Given the description of an element on the screen output the (x, y) to click on. 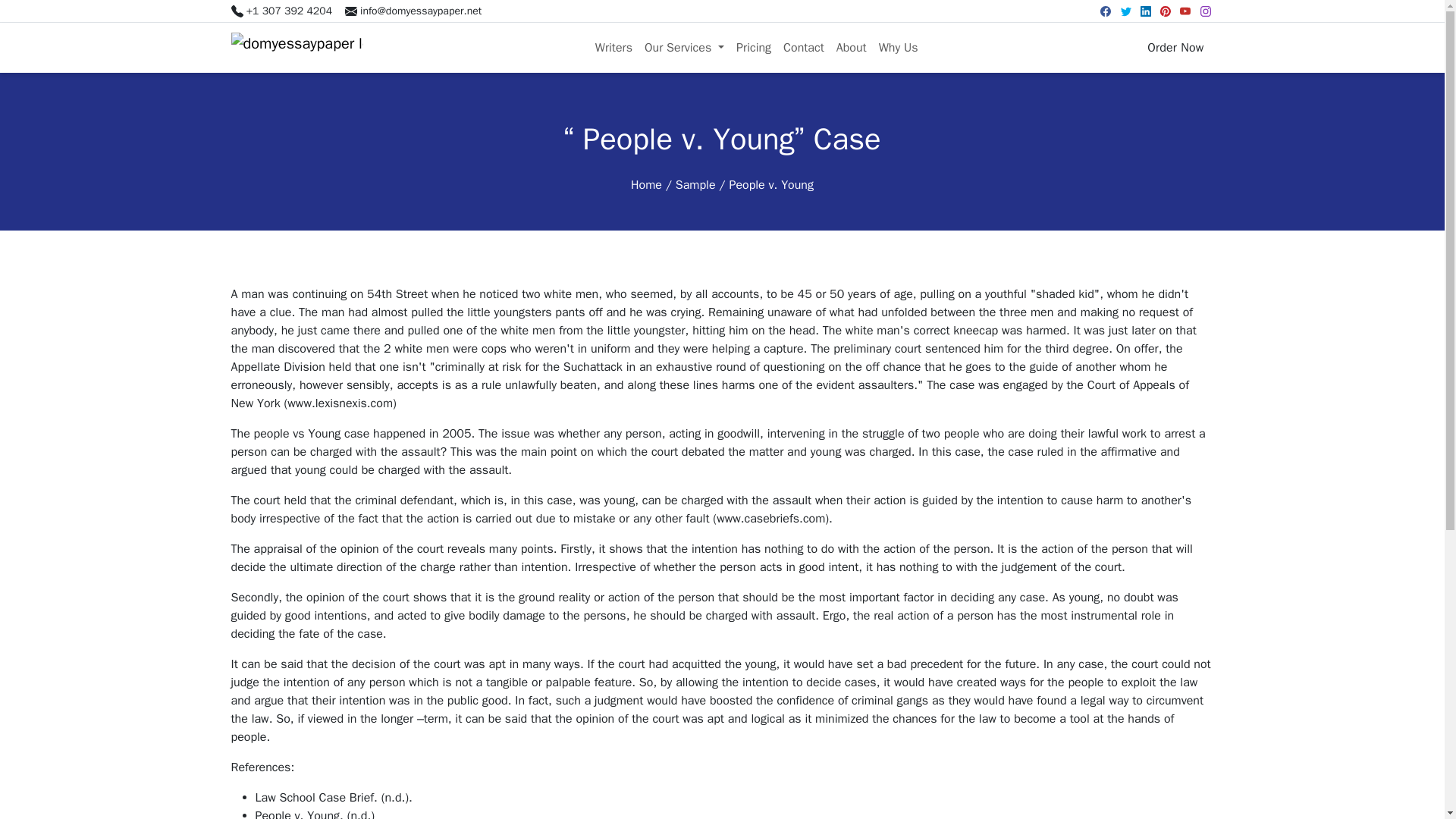
Sample (695, 184)
Order Now (1174, 47)
Contact (803, 47)
Home (646, 184)
Pricing (753, 47)
Writers (614, 47)
About (850, 47)
Our Services (684, 47)
Why Us (898, 47)
